Given the description of an element on the screen output the (x, y) to click on. 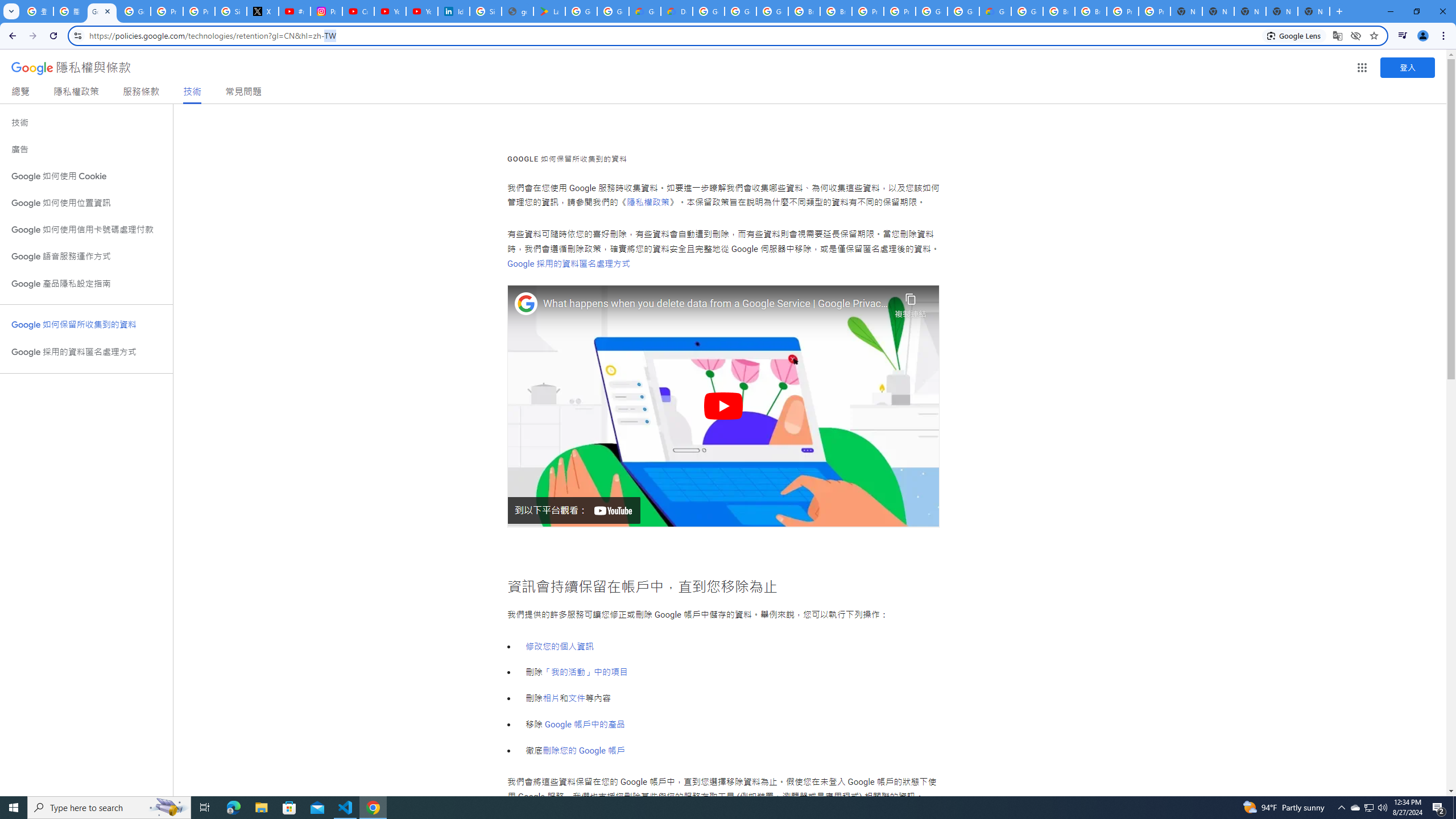
google_privacy_policy_en.pdf (517, 11)
You (1422, 35)
New Tab (1338, 11)
#nbabasketballhighlights - YouTube (294, 11)
Minimize (1390, 11)
Back (10, 35)
